Given the description of an element on the screen output the (x, y) to click on. 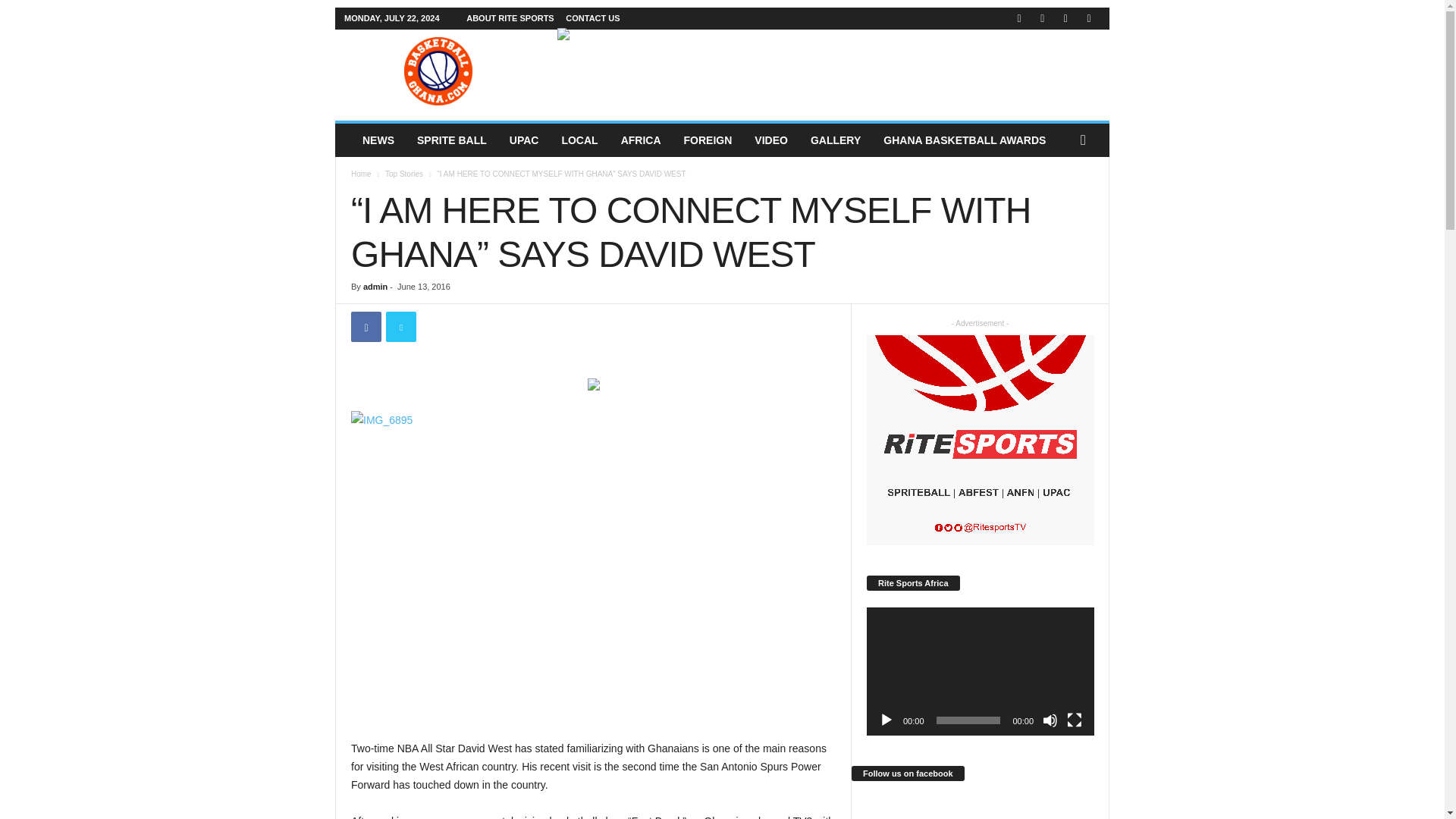
AFRICA (641, 140)
SPRITE BALL (451, 140)
Basket Ball Ghana (437, 70)
UPAC (523, 140)
NEWS (378, 140)
View all posts in Top Stories (404, 173)
LOCAL (579, 140)
CONTACT US (593, 17)
ABOUT RITE SPORTS (509, 17)
FOREIGN (708, 140)
VIDEO (770, 140)
